Given the description of an element on the screen output the (x, y) to click on. 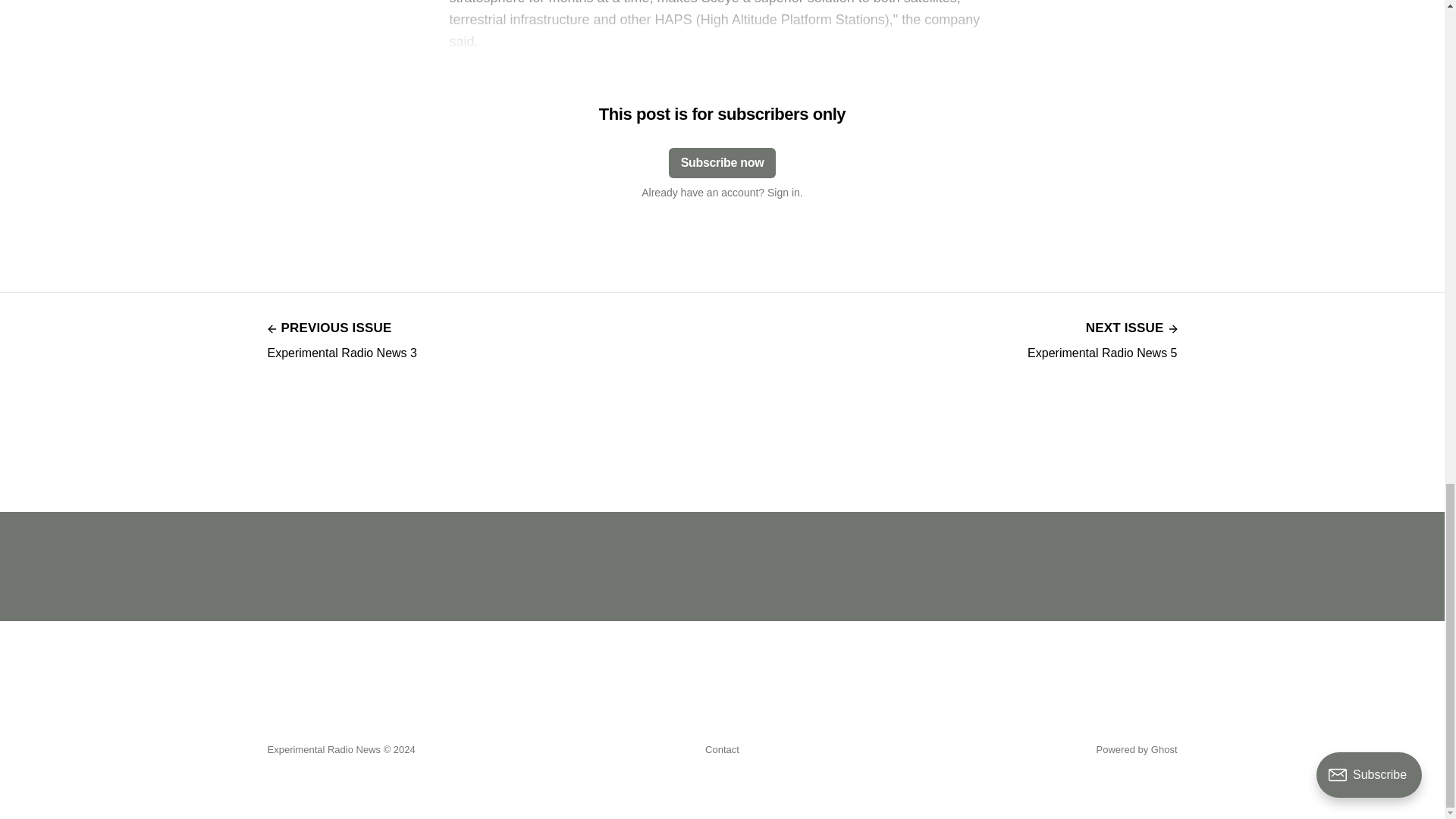
Powered by Ghost (1136, 749)
Contact (721, 750)
Subscribe now (1101, 338)
